Given the description of an element on the screen output the (x, y) to click on. 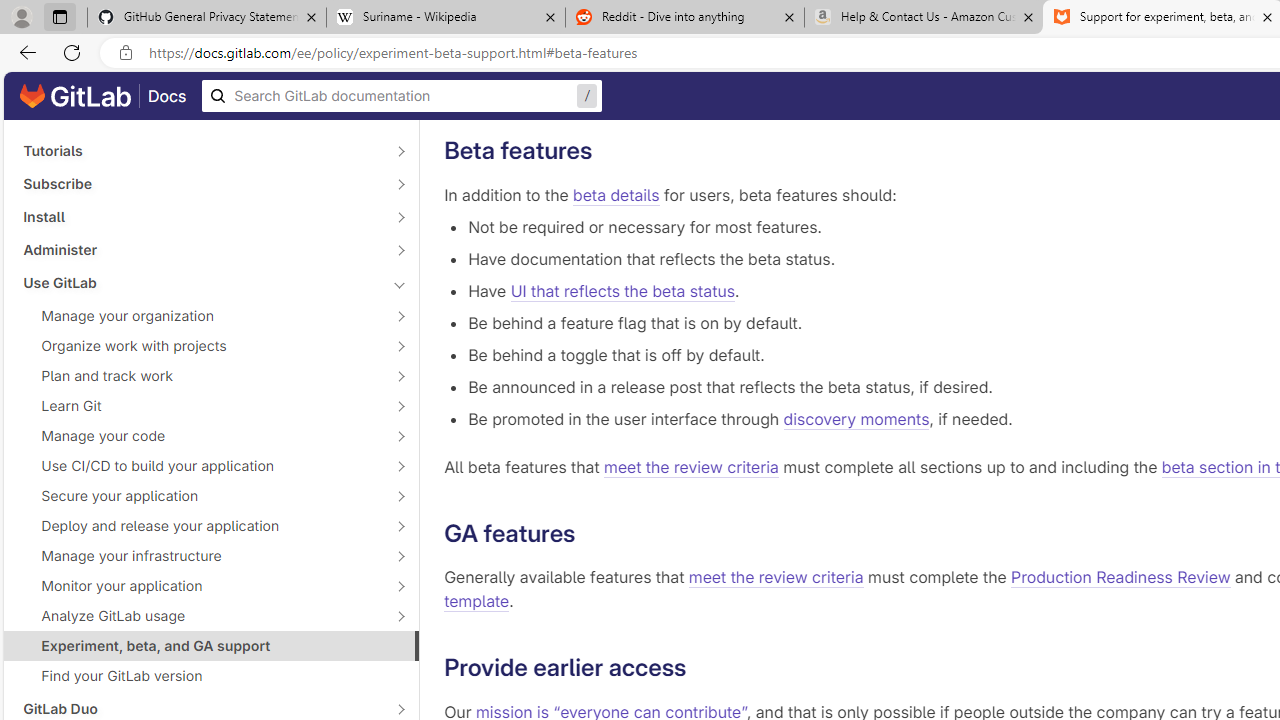
Organize work with projects (199, 345)
Secure your application (199, 495)
Monitor your application (199, 585)
/ (402, 95)
discovery moments (856, 418)
Manage your infrastructure (199, 555)
GitLab documentation home (75, 96)
initiate Production Readiness Review (1025, 84)
GitHub General Privacy Statement - GitHub Docs (207, 17)
Suriname - Wikipedia (445, 17)
Manage your organization (199, 315)
